Given the description of an element on the screen output the (x, y) to click on. 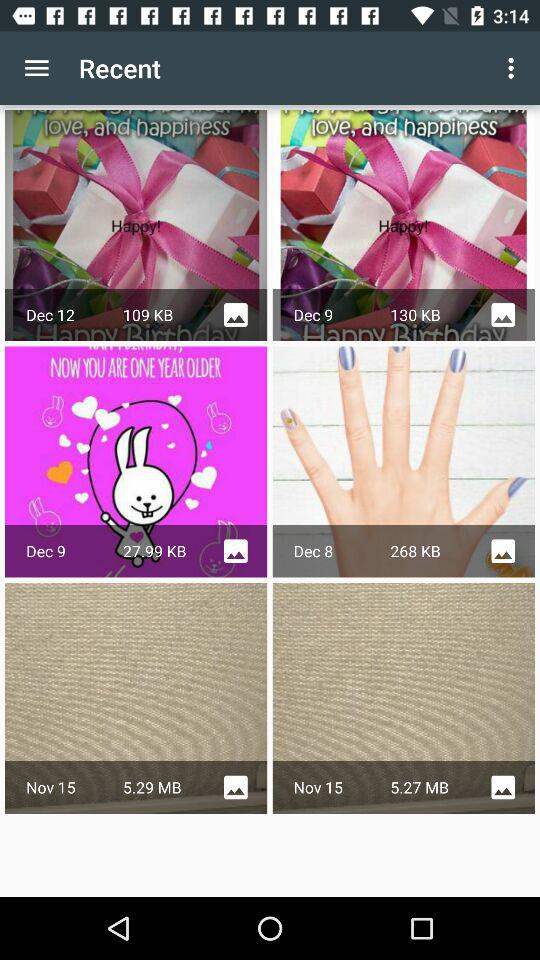
turn on app to the right of the recent item (513, 67)
